Given the description of an element on the screen output the (x, y) to click on. 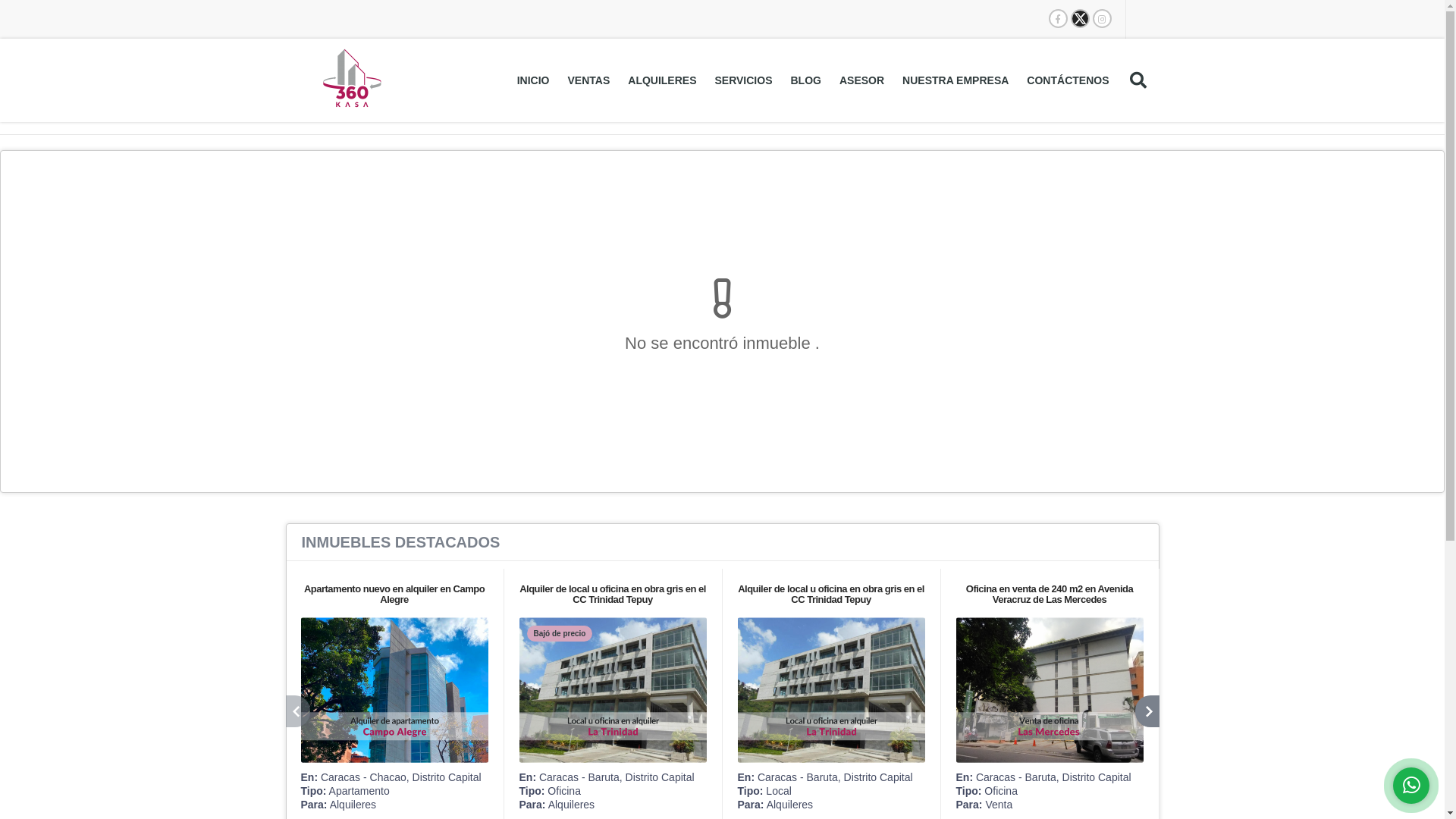
INICIO Element type: text (533, 80)
instagram Element type: hover (1101, 18)
SERVICIOS Element type: text (743, 80)
BLOG Element type: text (805, 80)
NUESTRA EMPRESA Element type: text (955, 80)
facebook Element type: hover (1057, 18)
ASESOR Element type: text (861, 80)
Apartamento nuevo en alquiler en Campo Alegre Element type: text (394, 594)
VENTAS Element type: text (588, 80)
ALQUILERES Element type: text (661, 80)
Logo empresa Element type: hover (351, 80)
X Element type: hover (1079, 18)
